Given the description of an element on the screen output the (x, y) to click on. 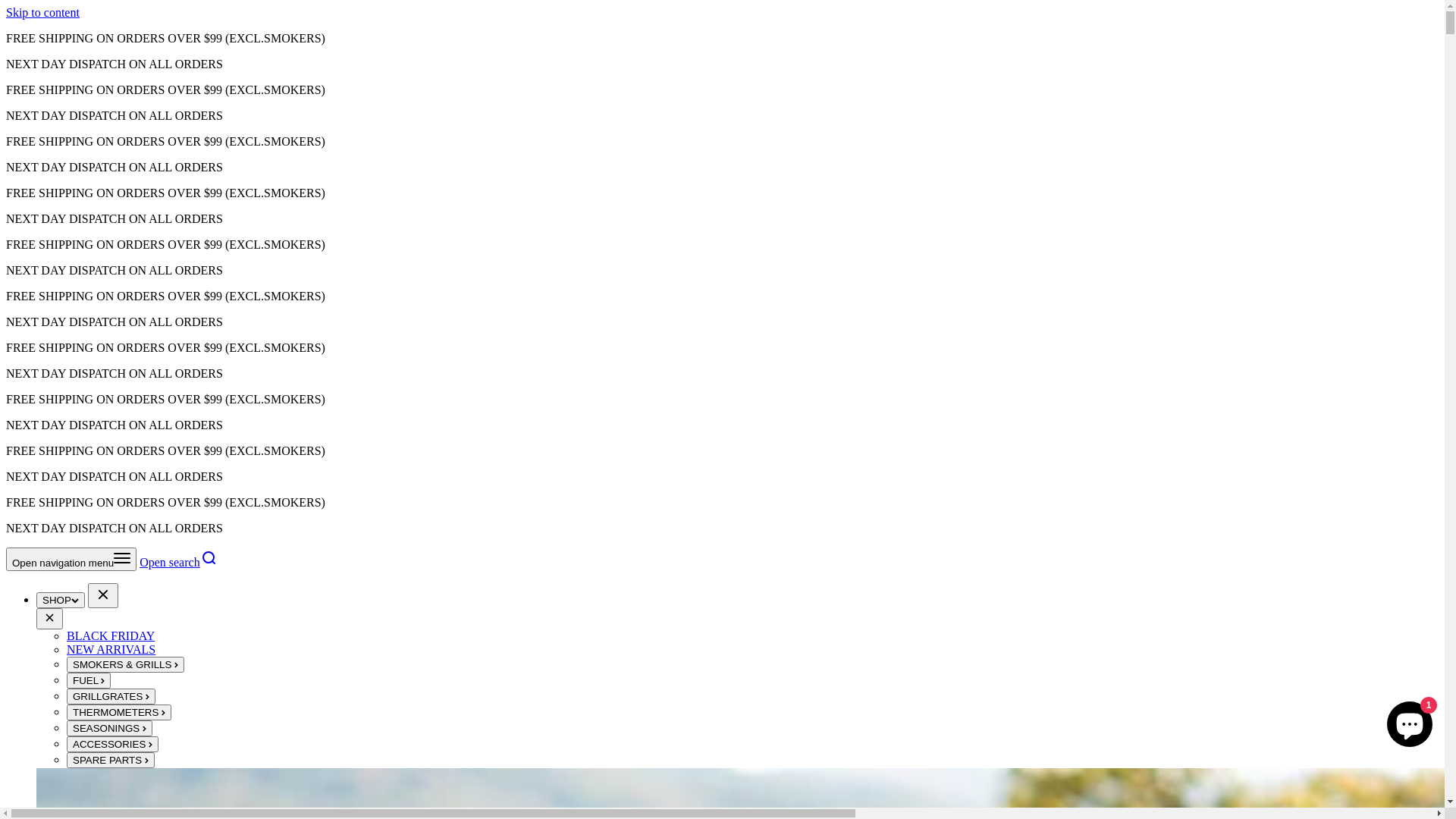
GRILLGRATES Element type: text (110, 696)
SPARE PARTS Element type: text (110, 760)
THERMOMETERS Element type: text (118, 712)
BLACK FRIDAY Element type: text (110, 635)
SMOKERS & GRILLS Element type: text (125, 664)
Open navigation menu Element type: text (71, 559)
SHOP Element type: text (60, 600)
Skip to content Element type: text (42, 12)
SEASONINGS Element type: text (109, 728)
NEW ARRIVALS Element type: text (110, 649)
Open search Element type: text (177, 561)
FUEL Element type: text (88, 680)
ACCESSORIES Element type: text (112, 744)
Shopify online store chat Element type: hover (1409, 720)
